Given the description of an element on the screen output the (x, y) to click on. 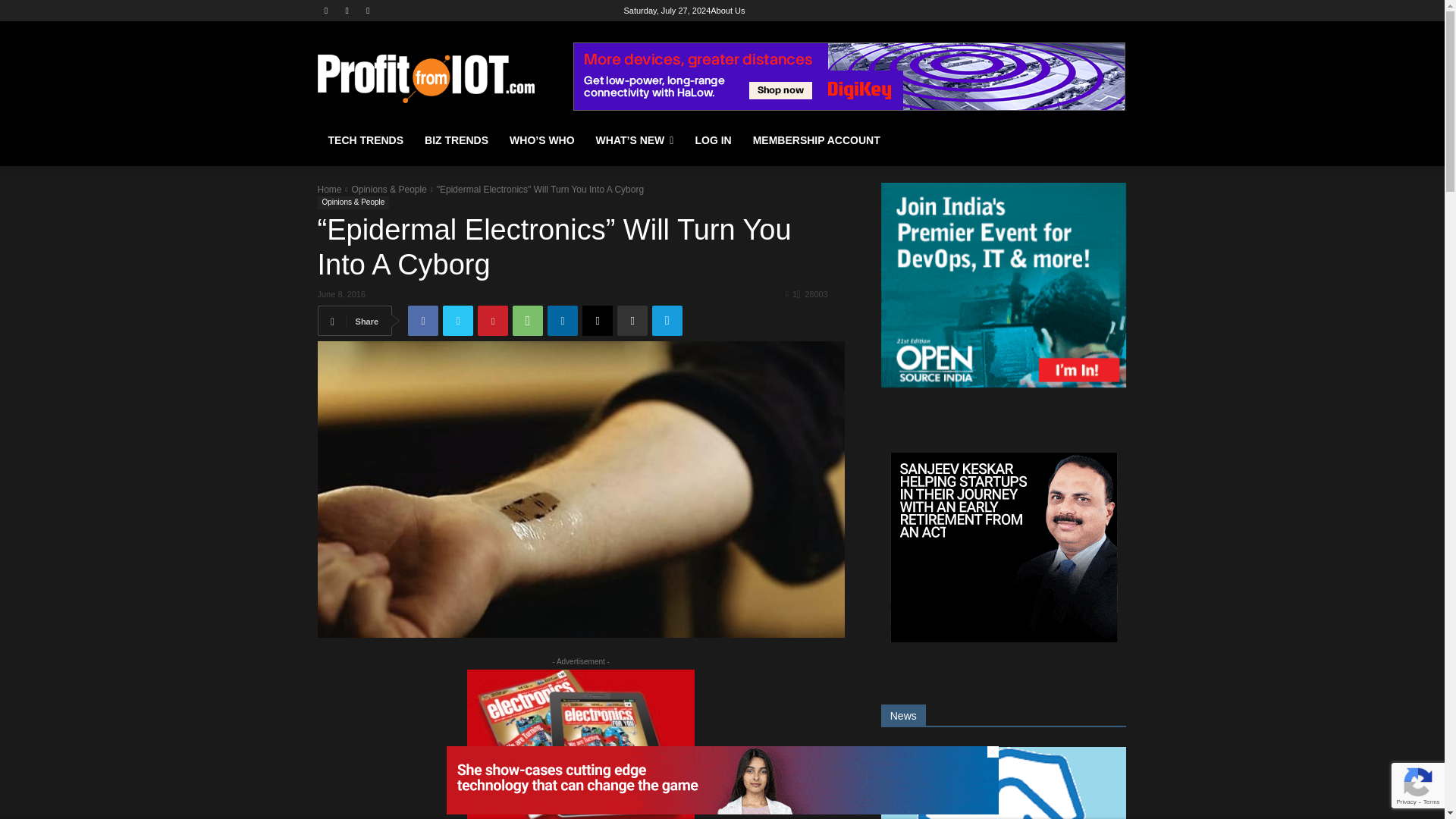
MEMBERSHIP ACCOUNT (816, 140)
Facebook (325, 9)
TECH TRENDS (365, 140)
LOG IN (712, 140)
Instagram (346, 9)
About Us (727, 10)
Pinterest (492, 320)
Home (328, 189)
Twitter (457, 320)
BIZ TRENDS (456, 140)
Facebook (422, 320)
Twitter (368, 9)
1 (791, 293)
